Given the description of an element on the screen output the (x, y) to click on. 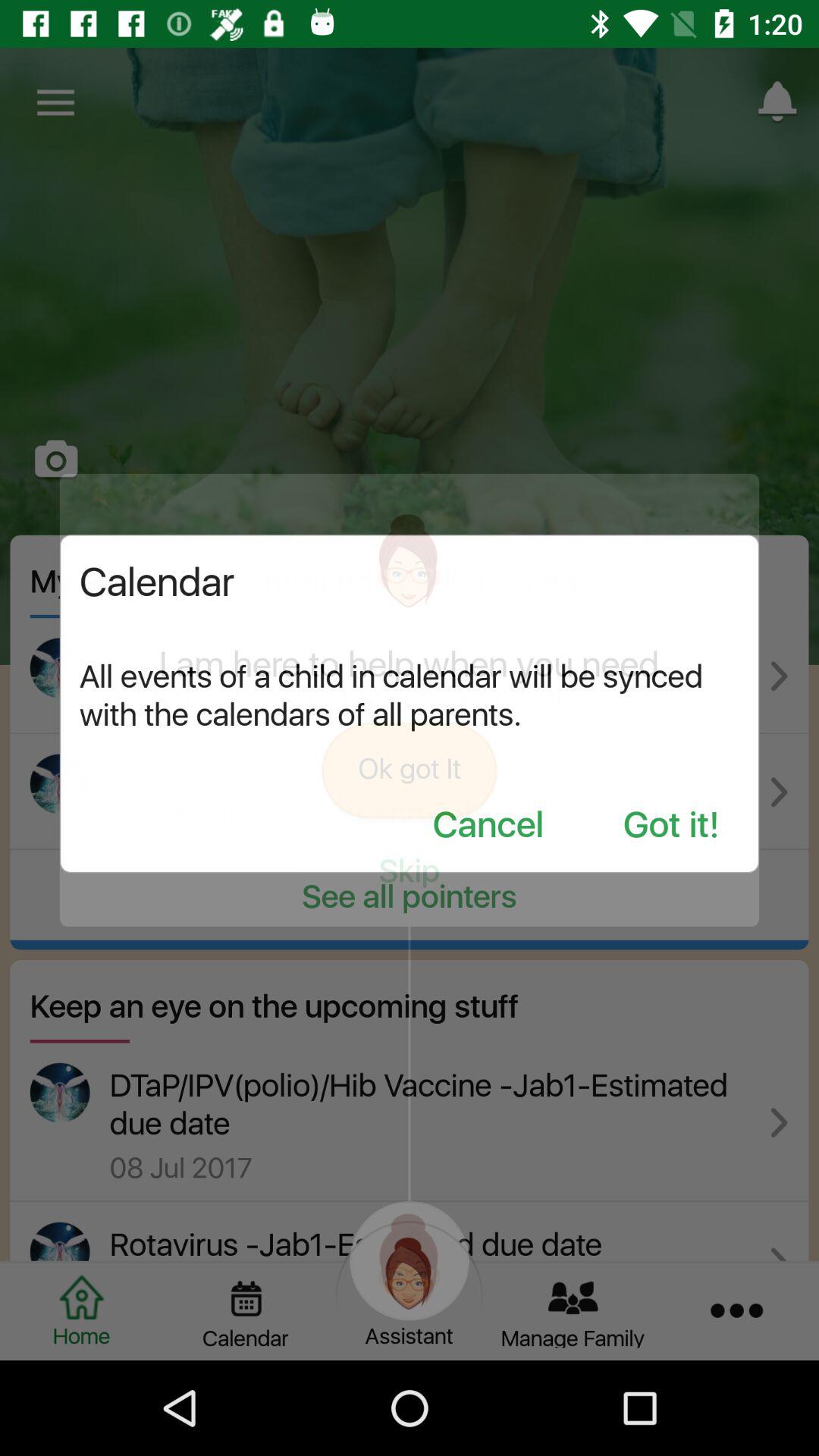
press the item to the right of the cancel item (671, 826)
